Given the description of an element on the screen output the (x, y) to click on. 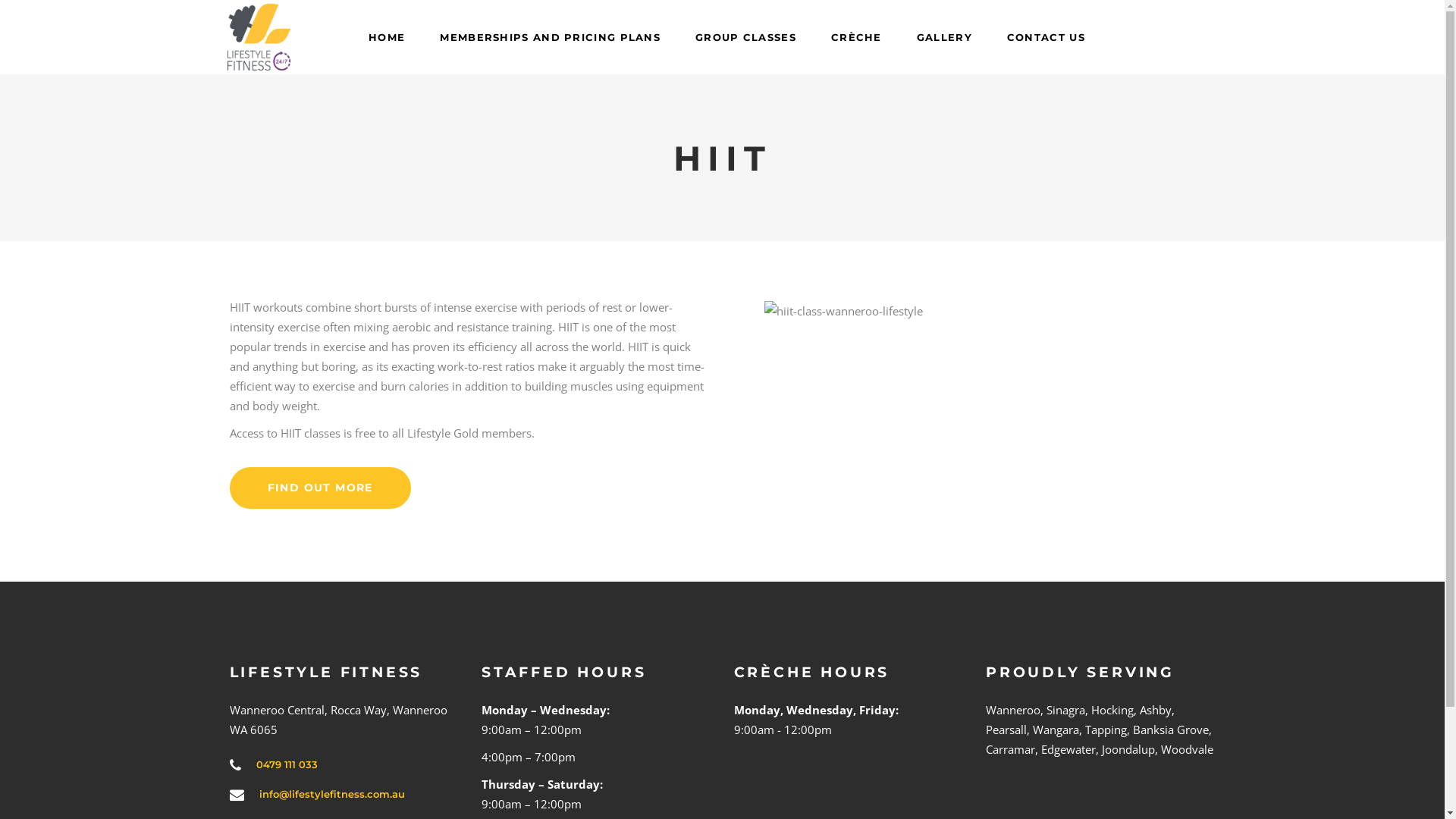
GROUP CLASSES Element type: text (745, 37)
HOME Element type: text (386, 37)
MEMBERSHIPS AND PRICING PLANS Element type: text (549, 37)
0479 111 033 Element type: text (286, 764)
CONTACT US Element type: text (1045, 37)
GALLERY Element type: text (944, 37)
FIND OUT MORE Element type: text (319, 487)
info@lifestylefitness.com.au Element type: text (331, 793)
